Given the description of an element on the screen output the (x, y) to click on. 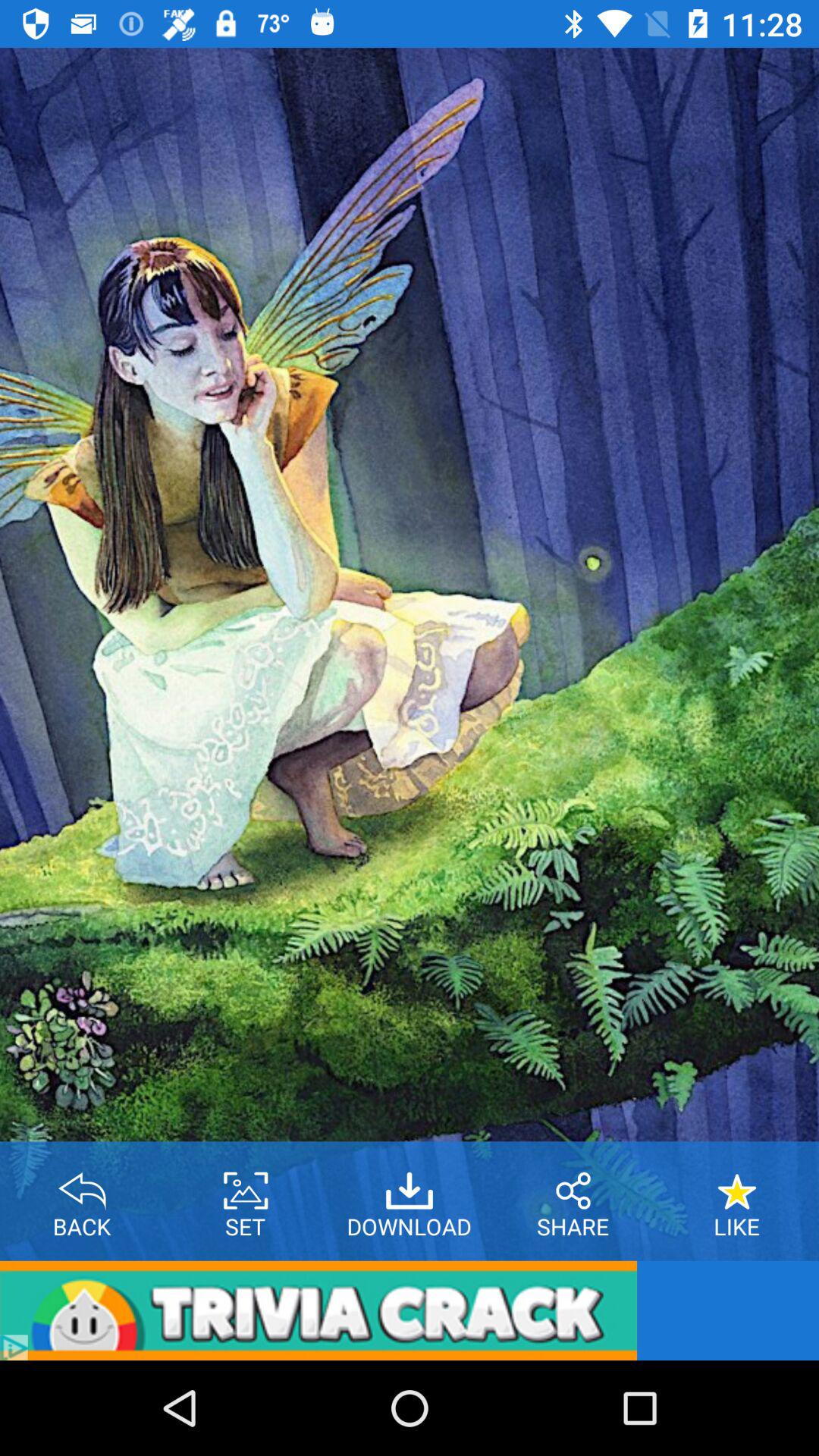
go to app (318, 1310)
